Given the description of an element on the screen output the (x, y) to click on. 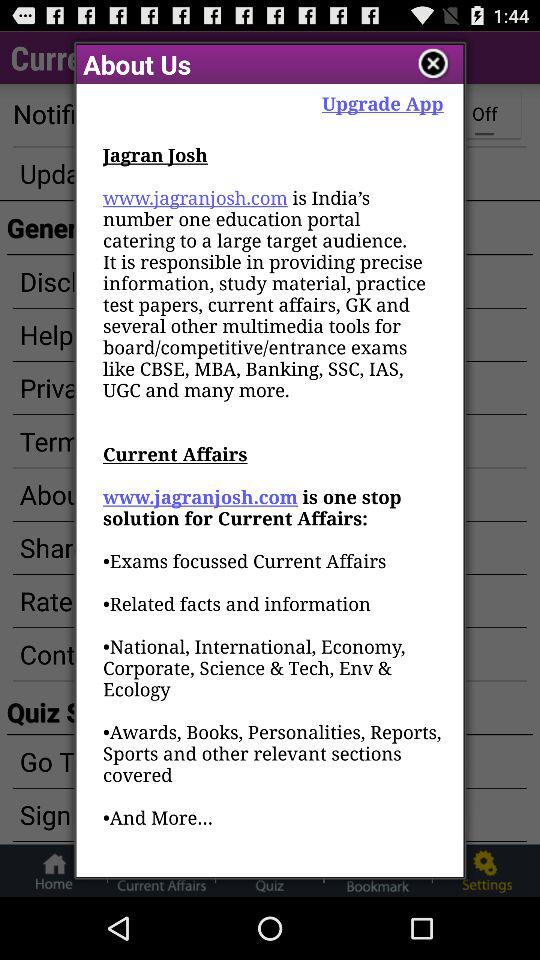
click item to the right of the about us app (382, 102)
